Given the description of an element on the screen output the (x, y) to click on. 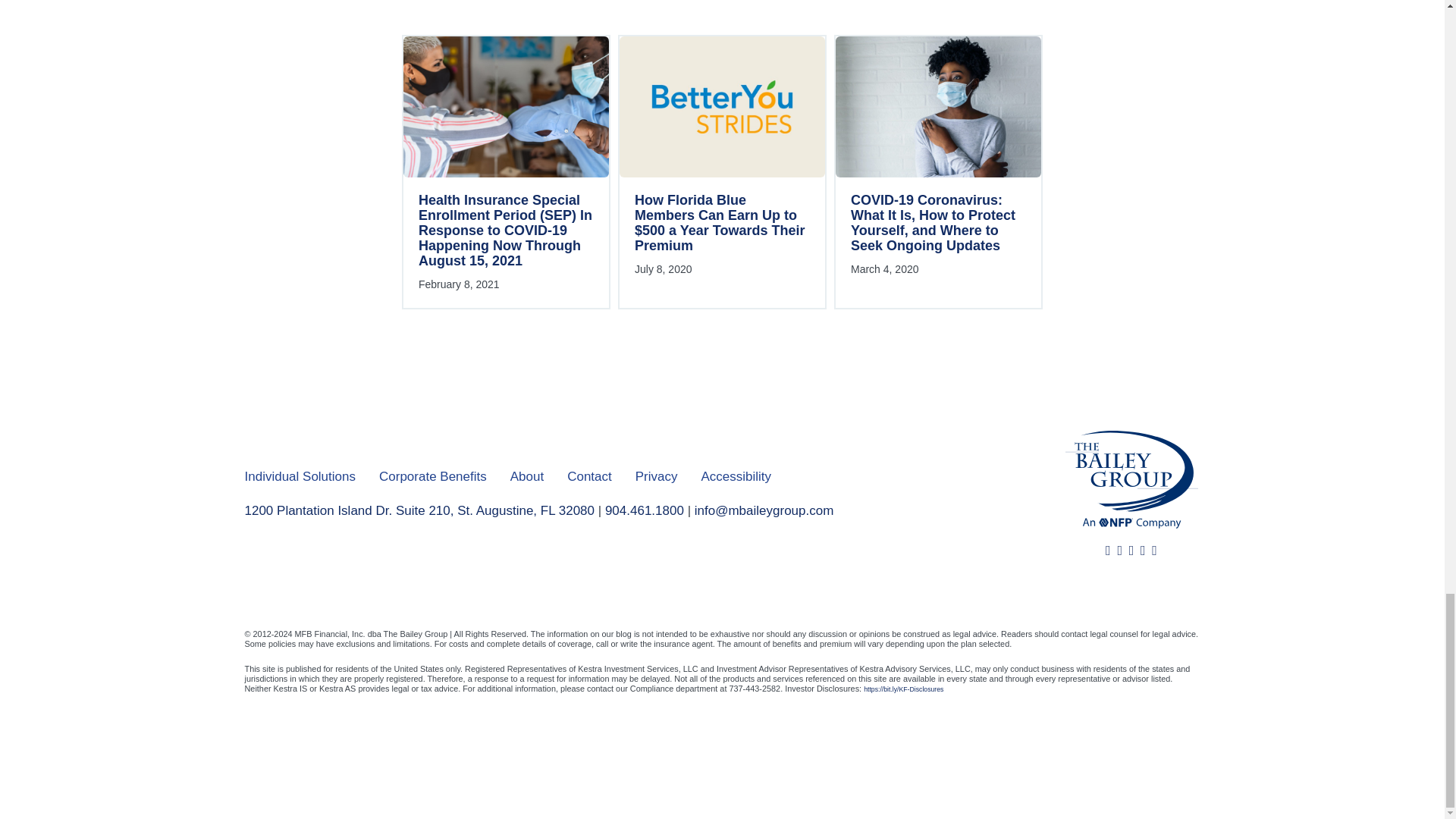
Logo-RGB (1130, 479)
